Given the description of an element on the screen output the (x, y) to click on. 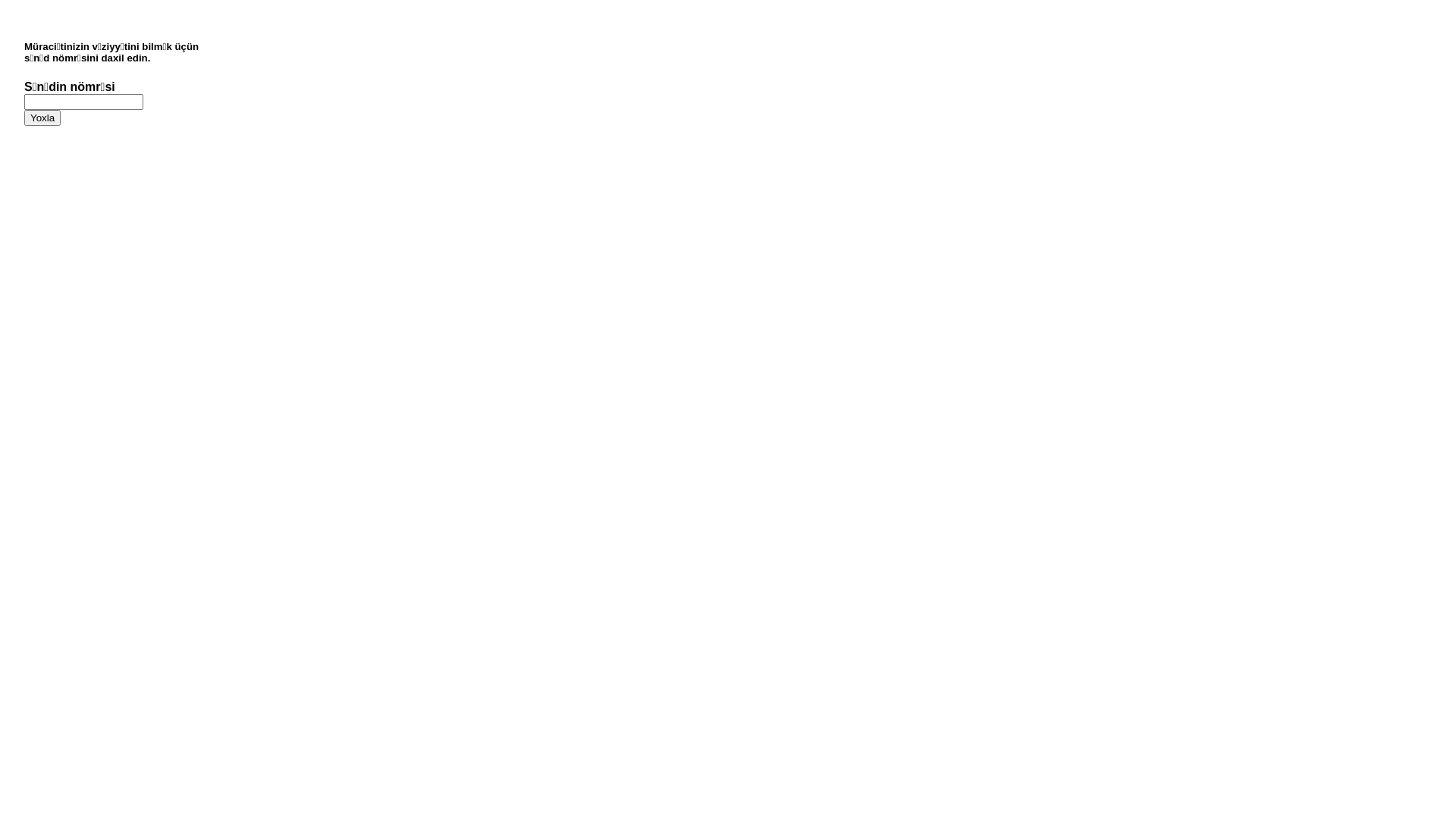
Yoxla Element type: text (42, 117)
